Given the description of an element on the screen output the (x, y) to click on. 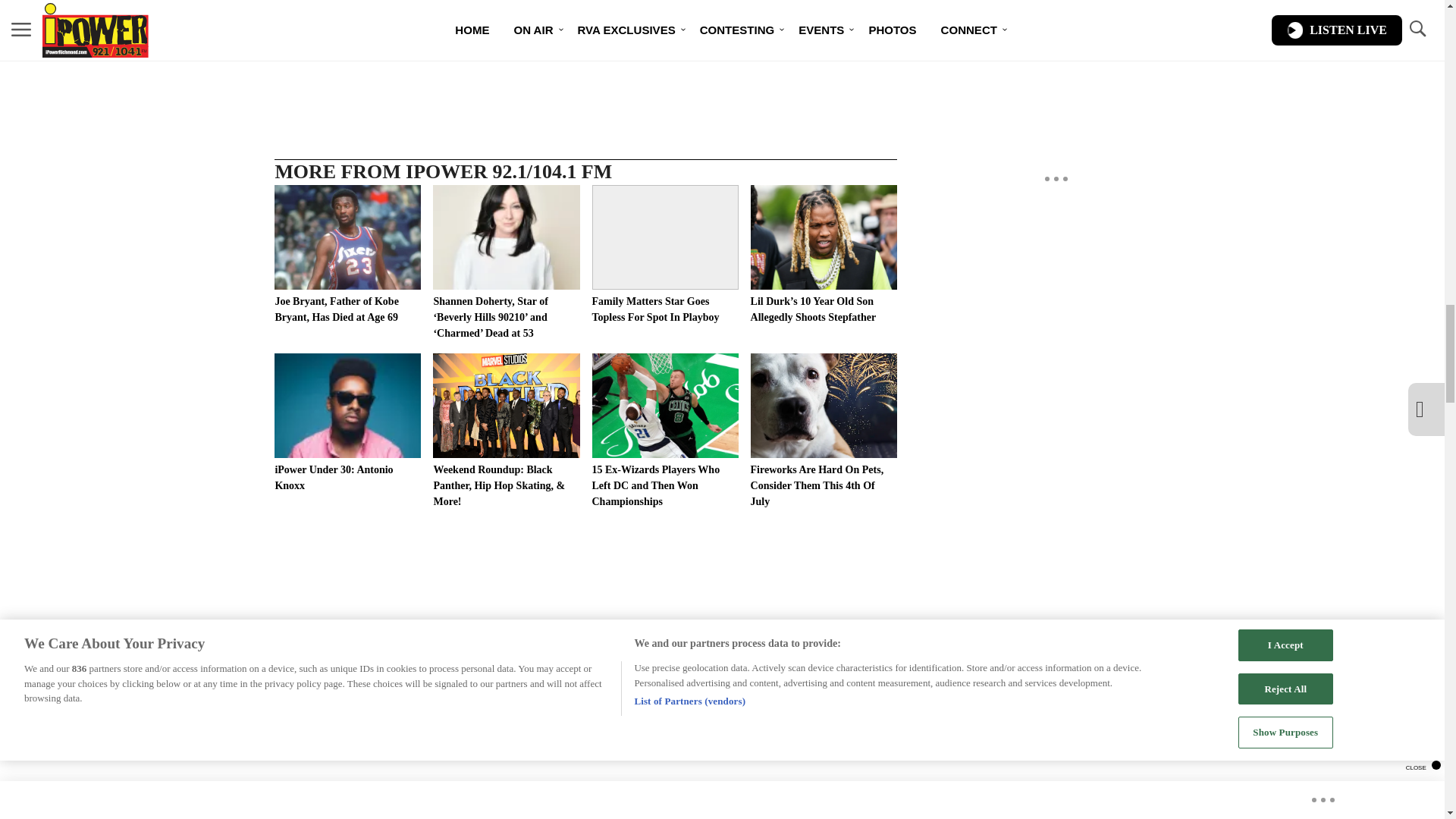
Vuukle Comments Widget (585, 807)
Vuukle Sharebar Widget (585, 59)
